Given the description of an element on the screen output the (x, y) to click on. 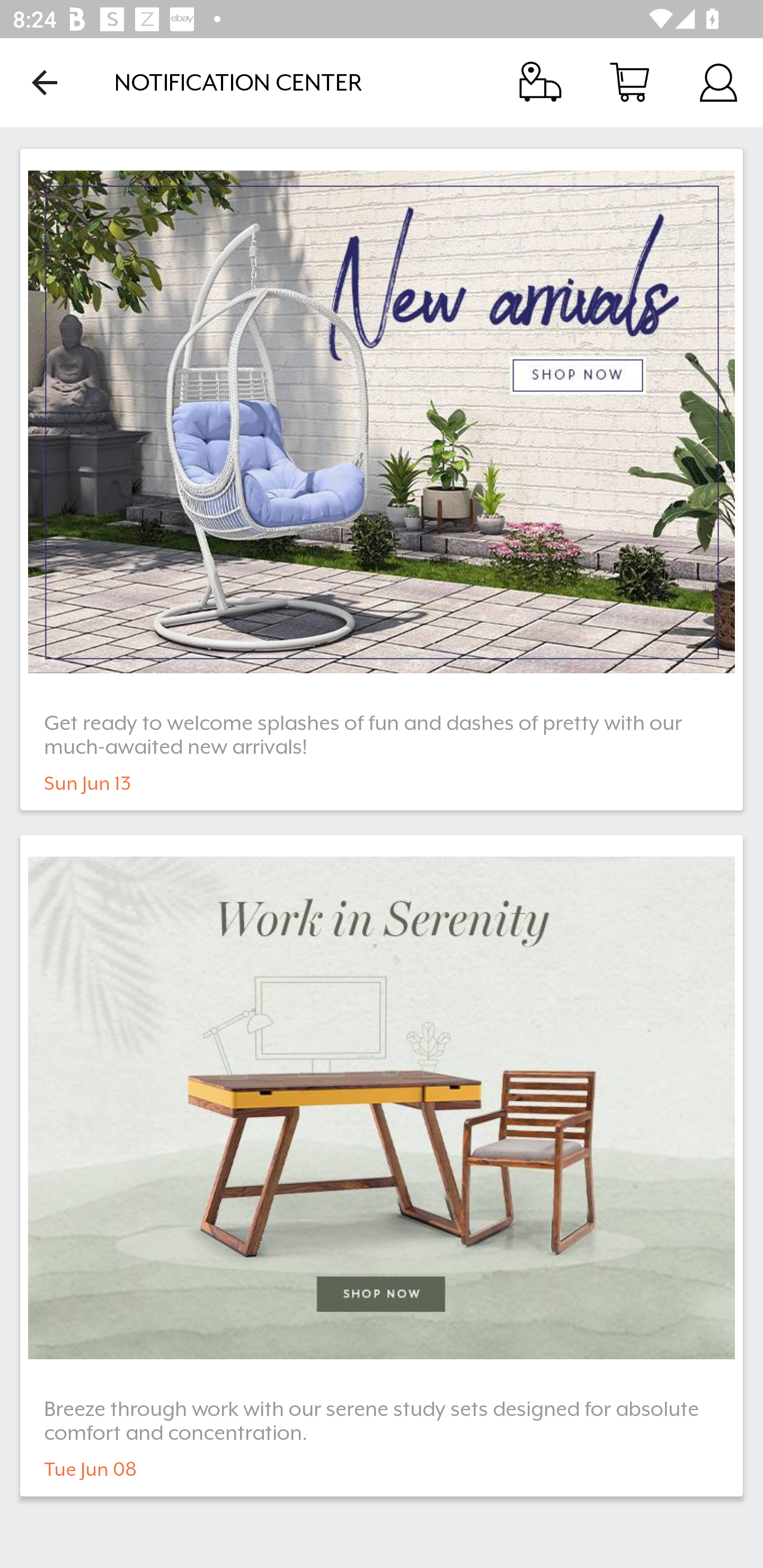
Navigate up (44, 82)
Track Order (540, 81)
Cart (629, 81)
Account Details (718, 81)
